Given the description of an element on the screen output the (x, y) to click on. 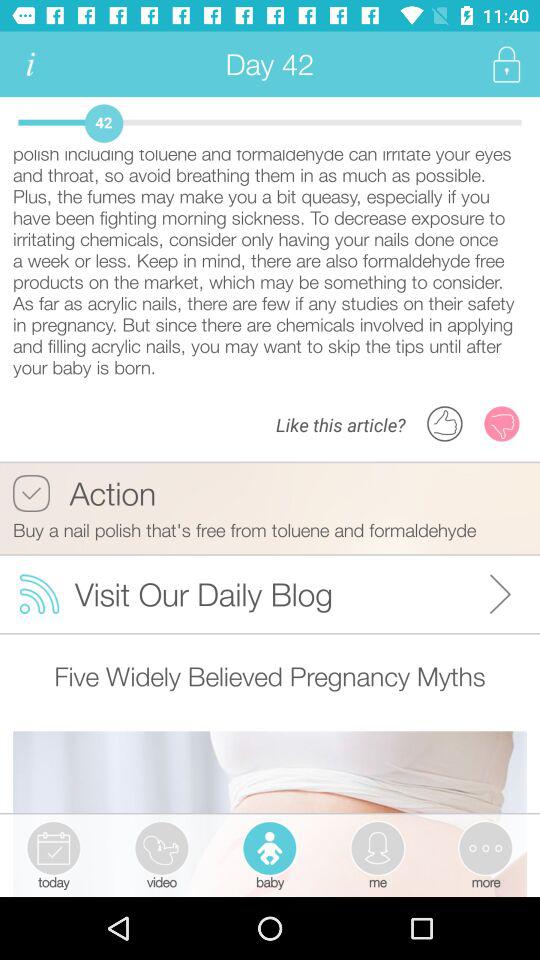
dislike the article (502, 423)
